Given the description of an element on the screen output the (x, y) to click on. 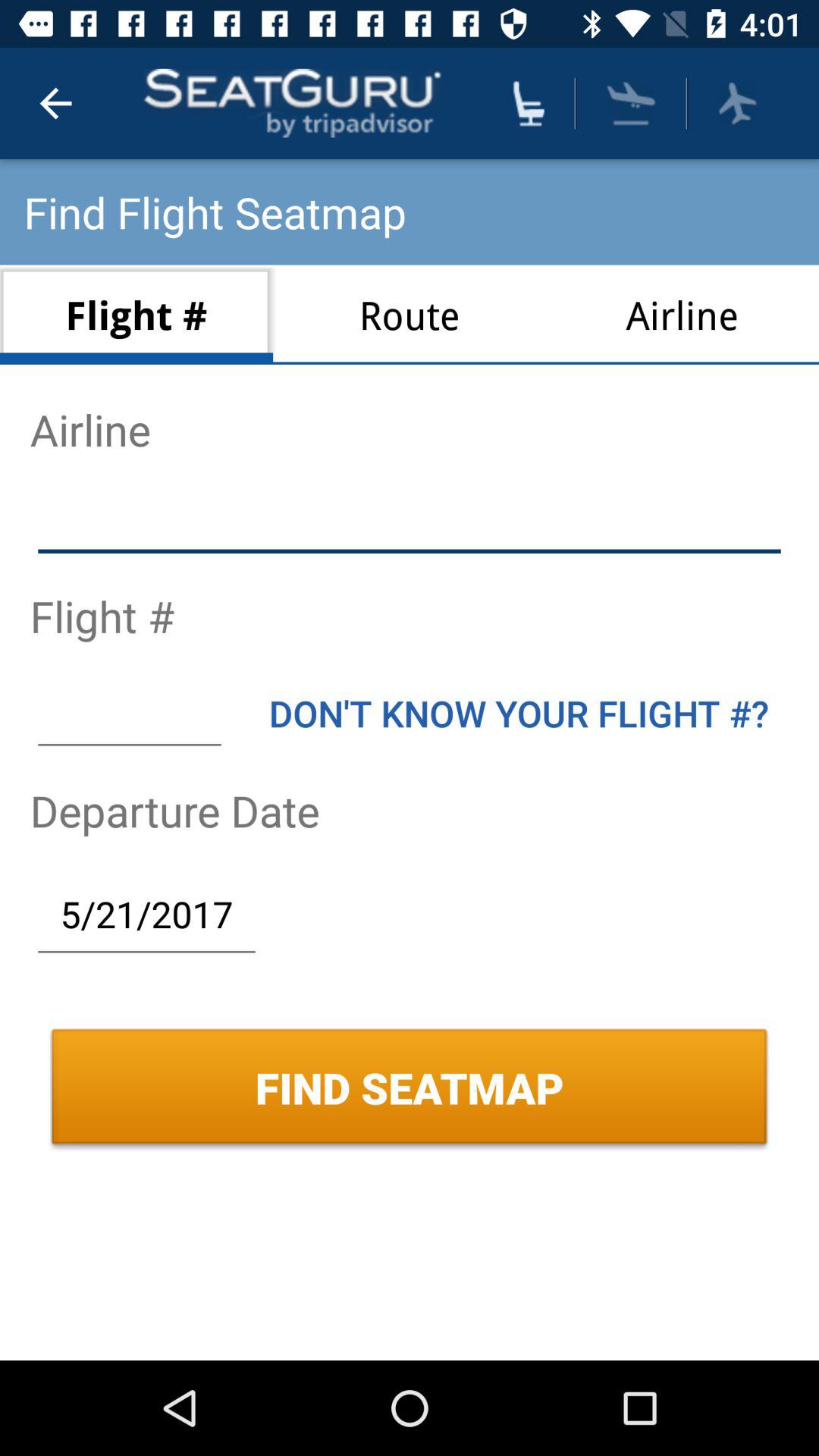
flight (630, 103)
